Given the description of an element on the screen output the (x, y) to click on. 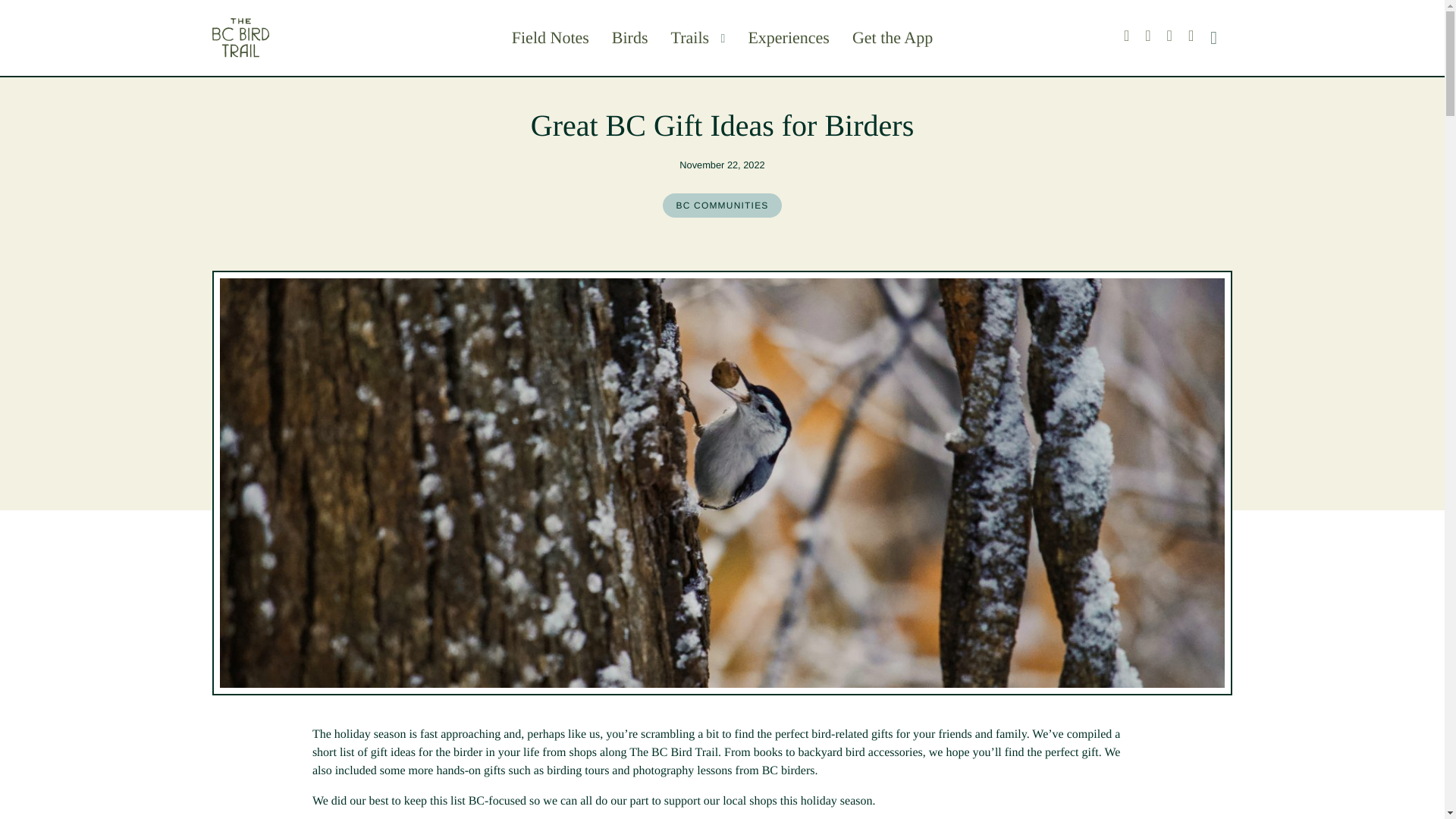
Get the App (892, 36)
Birds (629, 36)
Experiences (788, 36)
Field Notes (550, 36)
The BC Bird Trail (288, 37)
Trails (692, 36)
